Given the description of an element on the screen output the (x, y) to click on. 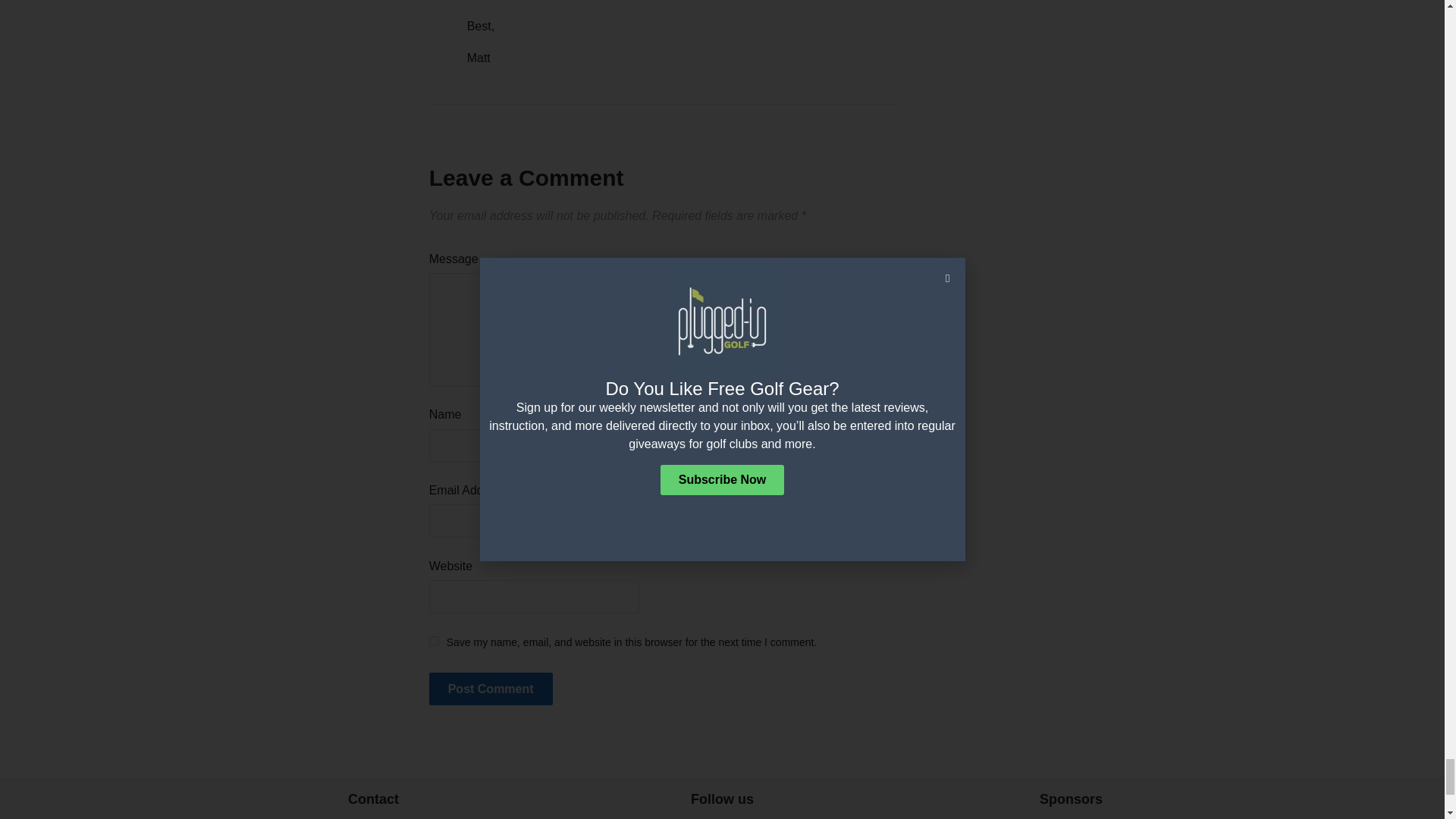
yes (434, 641)
Post Comment (491, 688)
